Given the description of an element on the screen output the (x, y) to click on. 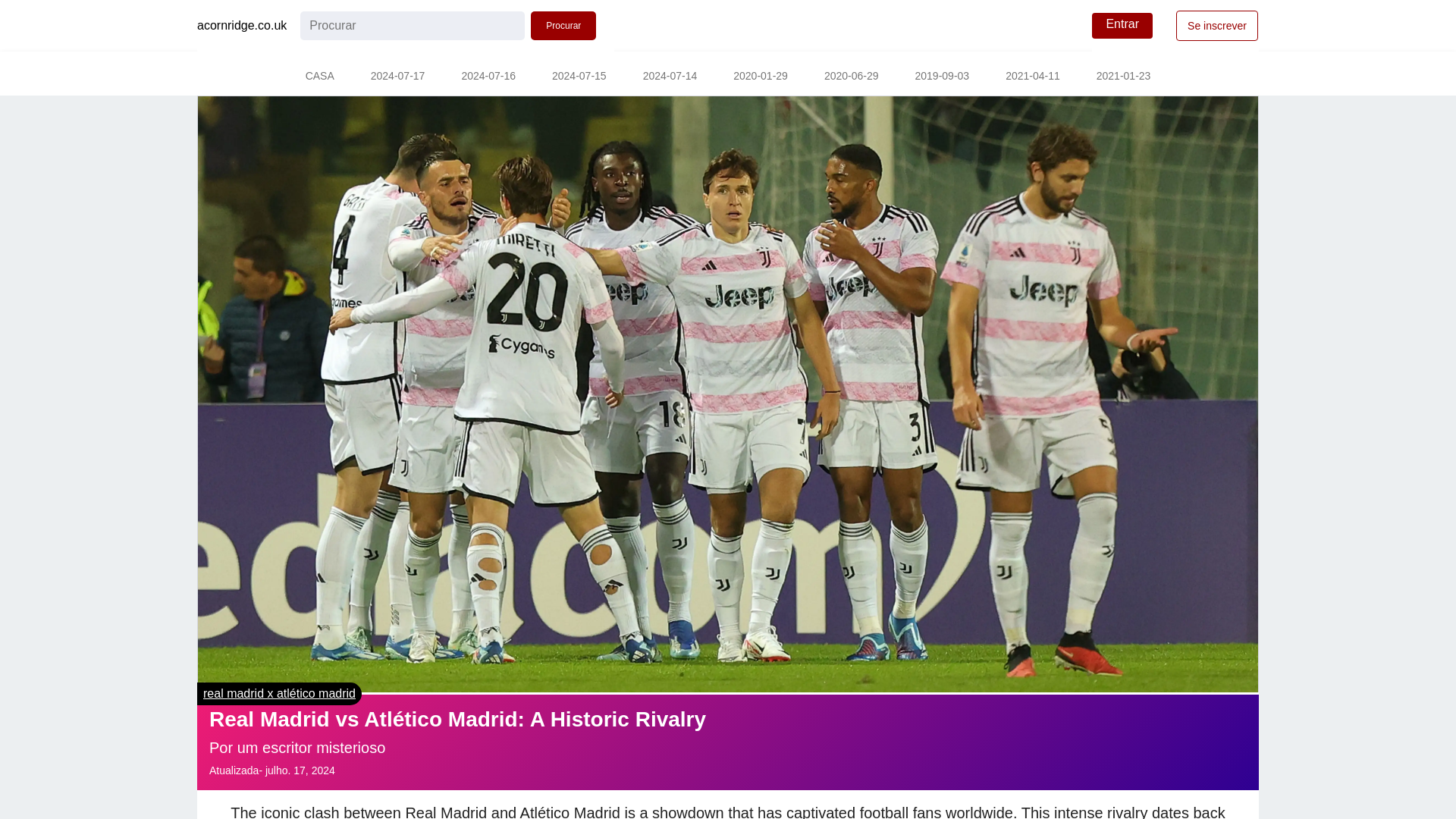
2019-09-03 (941, 76)
2024-07-14 (670, 76)
2024-07-15 (579, 76)
acornridge.co.uk (241, 25)
CASA (319, 76)
2020-06-29 (851, 76)
Entrar (1122, 25)
2024-07-16 (488, 76)
2021-04-11 (1032, 76)
2021-01-23 (1123, 76)
Procurar (563, 25)
2020-01-29 (760, 76)
2024-07-17 (398, 76)
